Given the description of an element on the screen output the (x, y) to click on. 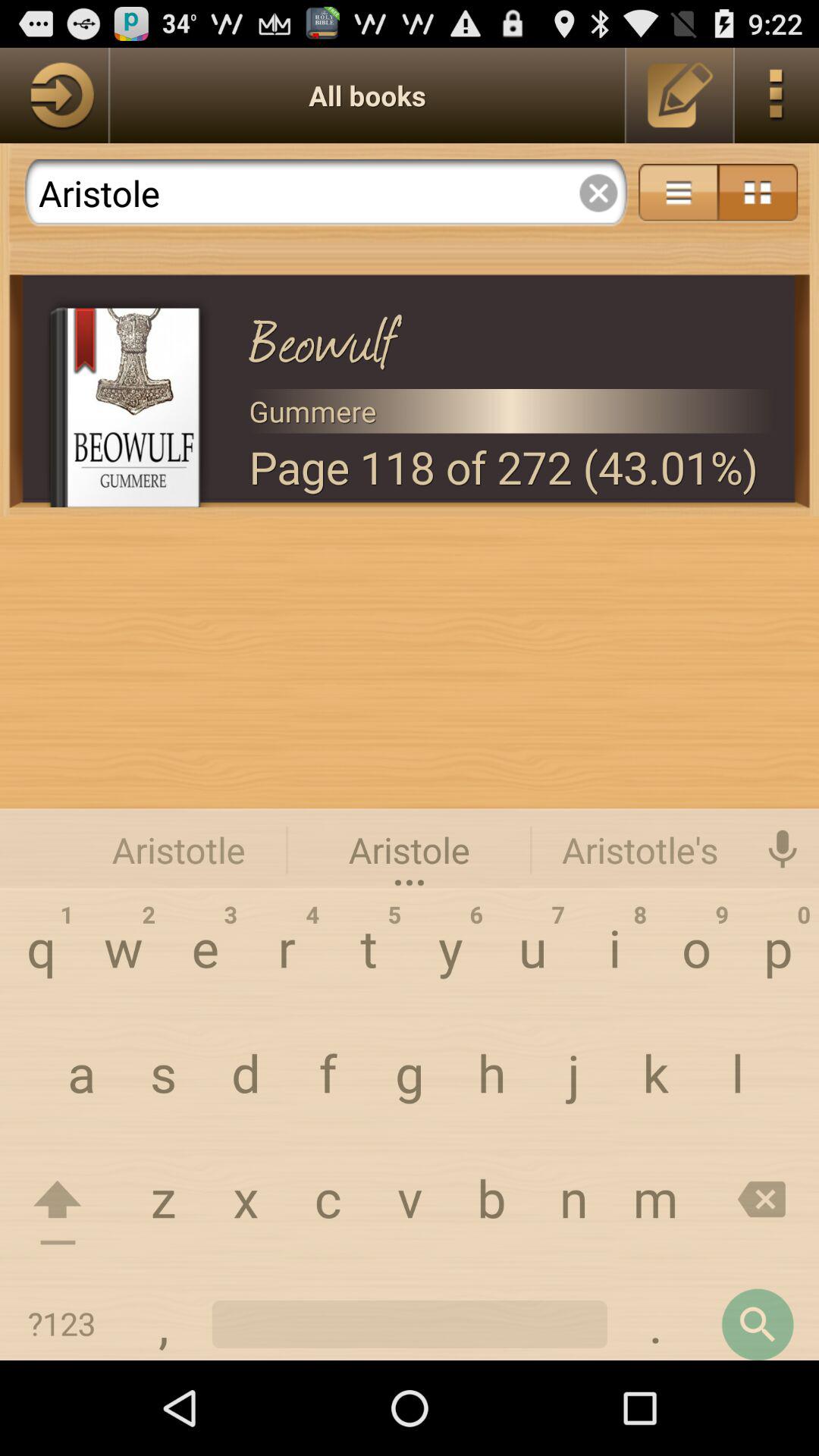
icon option (757, 192)
